Given the description of an element on the screen output the (x, y) to click on. 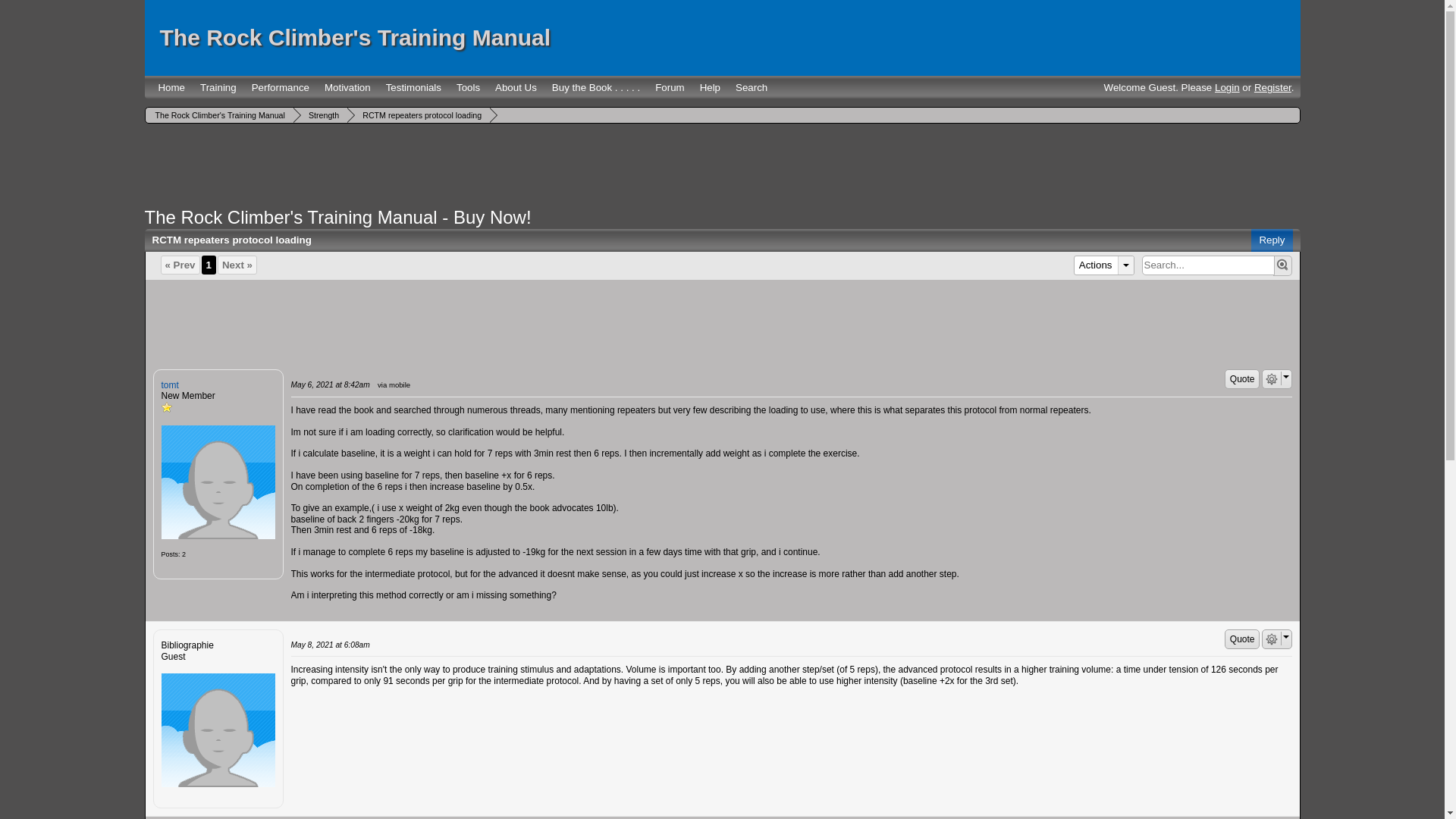
Motivation (347, 87)
tomt (217, 481)
Post Options (1270, 639)
Forum (669, 87)
Login (1227, 87)
Help (710, 87)
Register (1272, 87)
Search (751, 87)
